Given the description of an element on the screen output the (x, y) to click on. 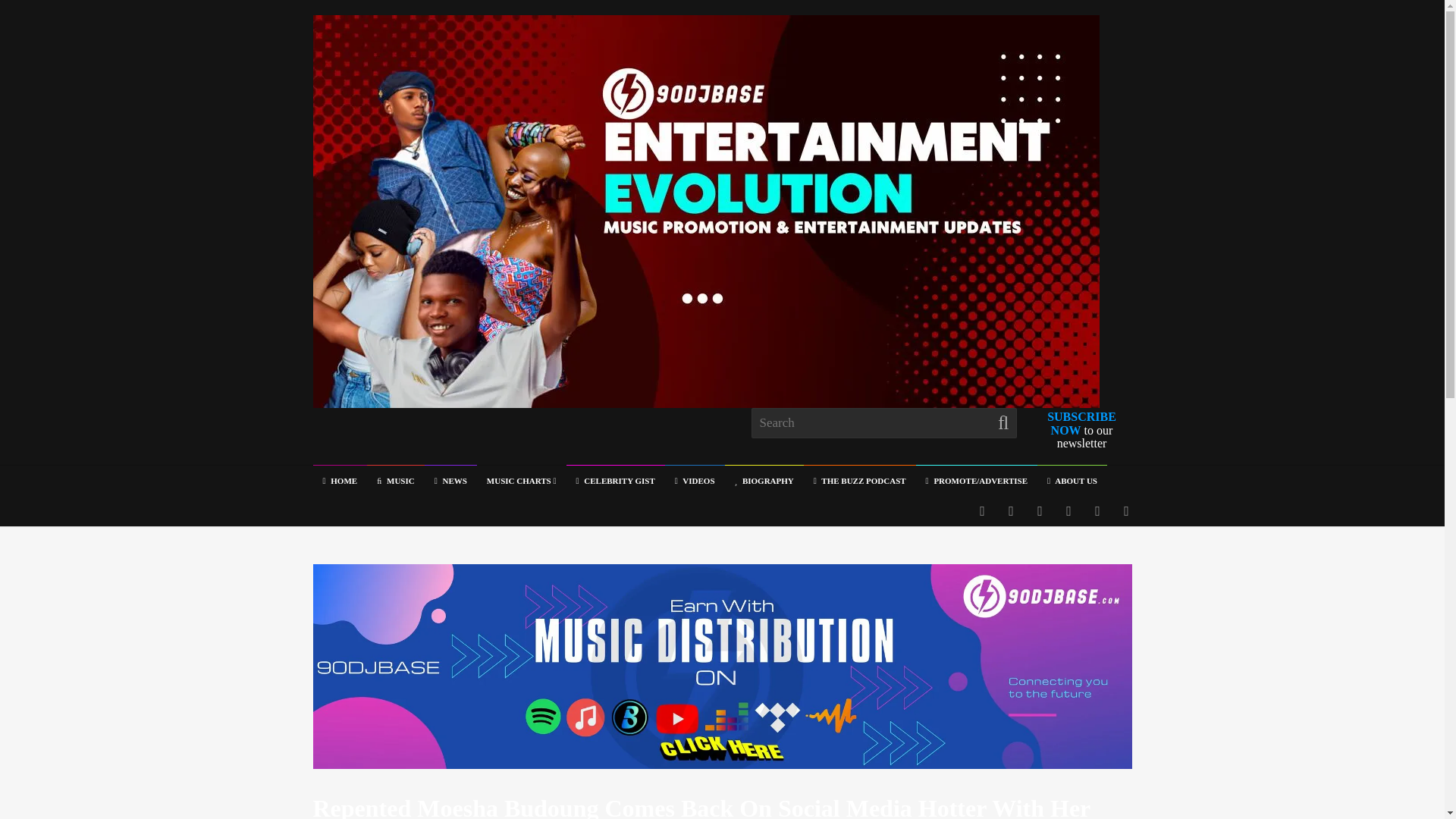
ABOUT US (1071, 481)
NEWS (451, 481)
BIOGRAPHY (764, 481)
VIDEOS (695, 481)
HOME (339, 481)
SUBSCRIBE NOW to our newsletter (1081, 429)
THE BUZZ PODCAST (859, 481)
CELEBRITY GIST (615, 481)
MUSIC (395, 481)
